Given the description of an element on the screen output the (x, y) to click on. 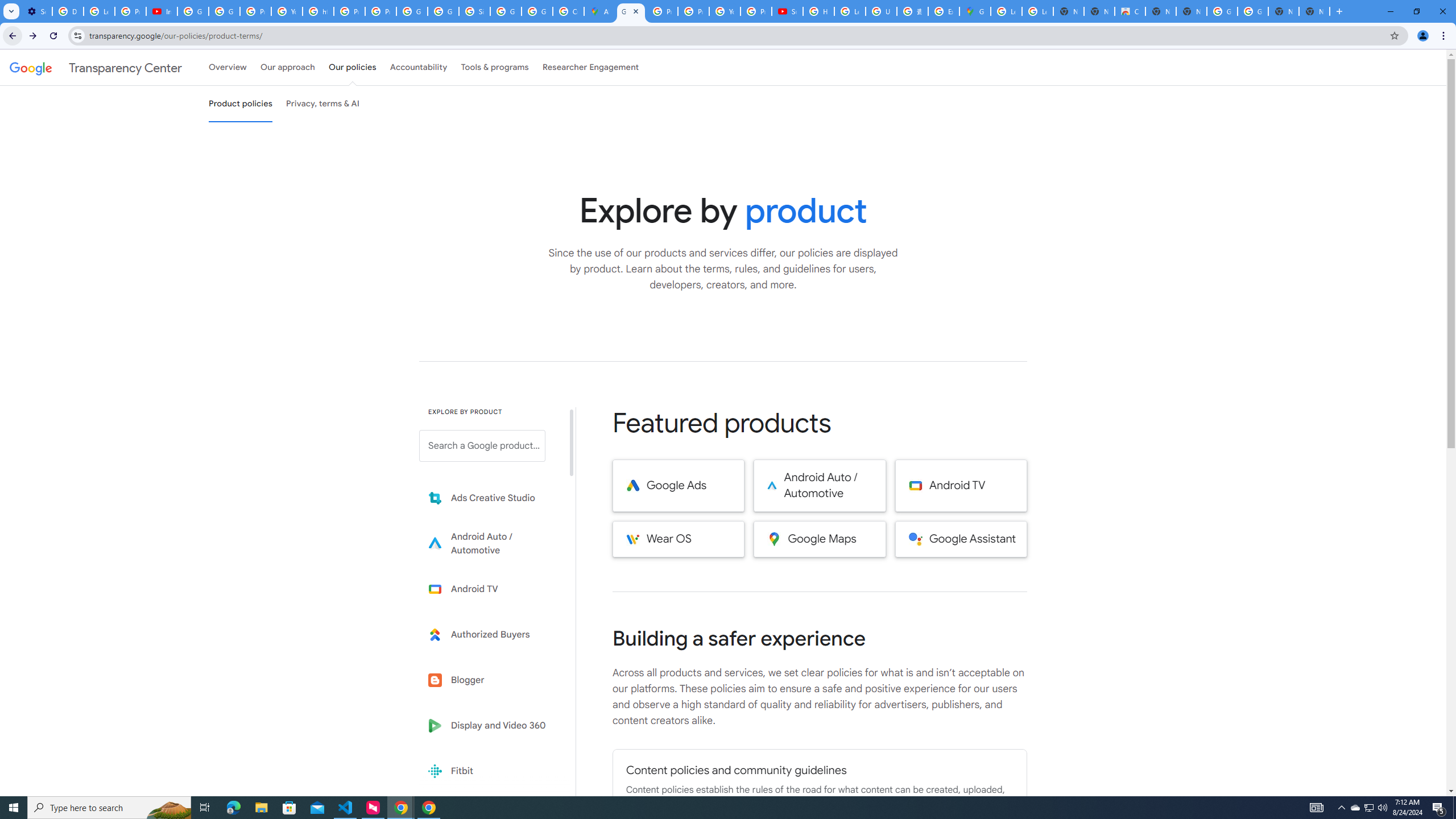
Learn more about Authorized Buyers (490, 634)
Privacy Help Center - Policies Help (662, 11)
Fitbit (490, 770)
Researcher Engagement (590, 67)
Our approach (287, 67)
Privacy Help Center - Policies Help (693, 11)
Blogger (490, 679)
Google Maps (974, 11)
Privacy, terms & AI (322, 103)
